Given the description of an element on the screen output the (x, y) to click on. 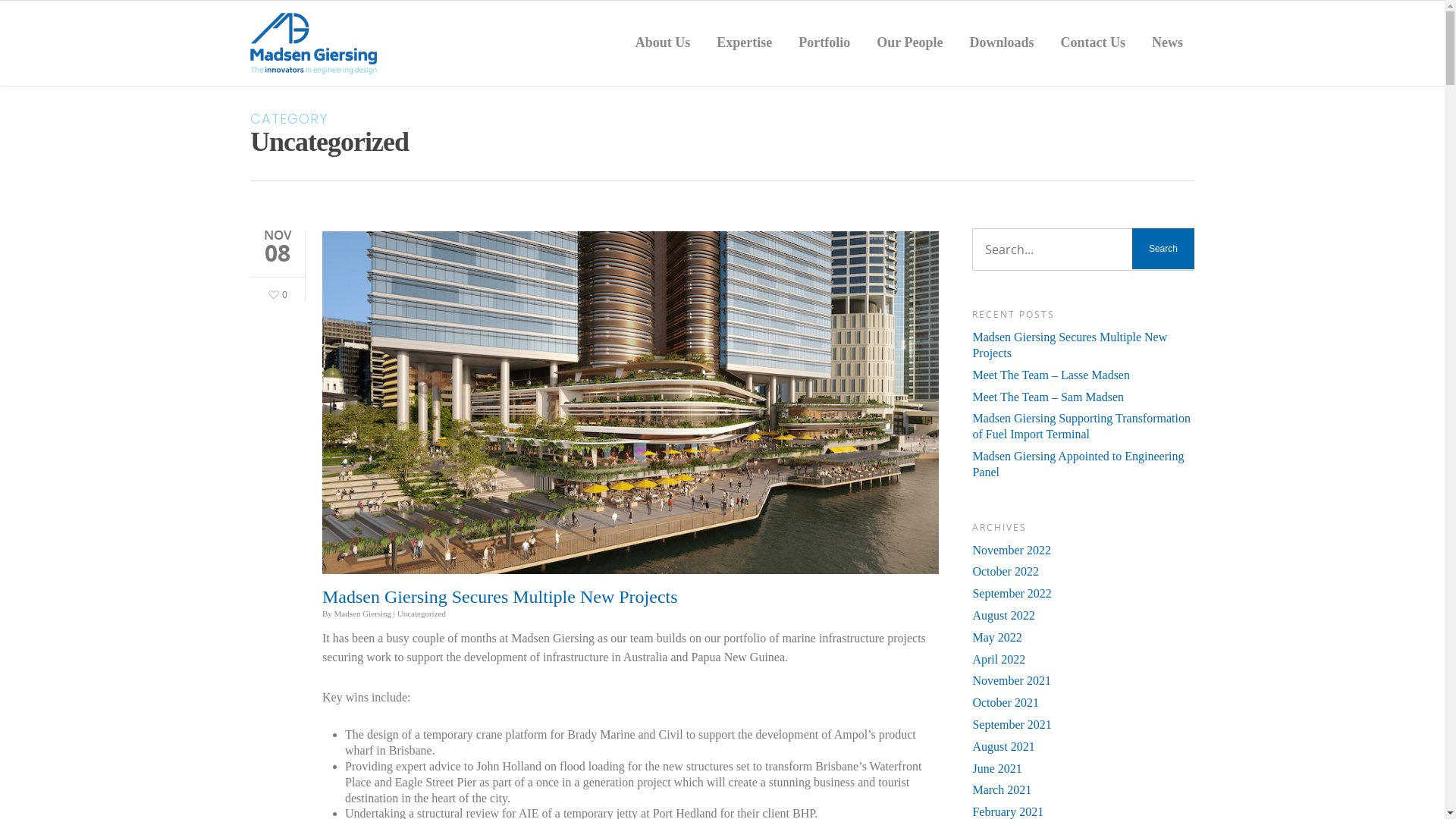
August 2022 Element type: text (1083, 616)
April 2022 Element type: text (1083, 660)
Contact Us Element type: text (1092, 46)
June 2021 Element type: text (1083, 769)
March 2021 Element type: text (1083, 790)
October 2021 Element type: text (1083, 703)
Madsen Giersing Secures Multiple New Projects Element type: text (499, 596)
Search for: Element type: hover (1083, 249)
September 2022 Element type: text (1083, 594)
Madsen Giersing Secures Multiple New Projects Element type: text (1083, 345)
September 2021 Element type: text (1083, 725)
August 2021 Element type: text (1083, 747)
Search Element type: text (1163, 248)
Madsen Giersing Appointed to Engineering Panel Element type: text (1083, 464)
November 2022 Element type: text (1083, 550)
Downloads Element type: text (1001, 46)
May 2022 Element type: text (1083, 638)
News Element type: text (1167, 46)
Expertise Element type: text (743, 46)
0 Element type: text (275, 293)
About Us Element type: text (662, 46)
Uncategorized Element type: text (421, 613)
Madsen Giersing Element type: text (362, 613)
October 2022 Element type: text (1083, 572)
November 2021 Element type: text (1083, 681)
Portfolio Element type: text (824, 46)
Our People Element type: text (909, 46)
